Given the description of an element on the screen output the (x, y) to click on. 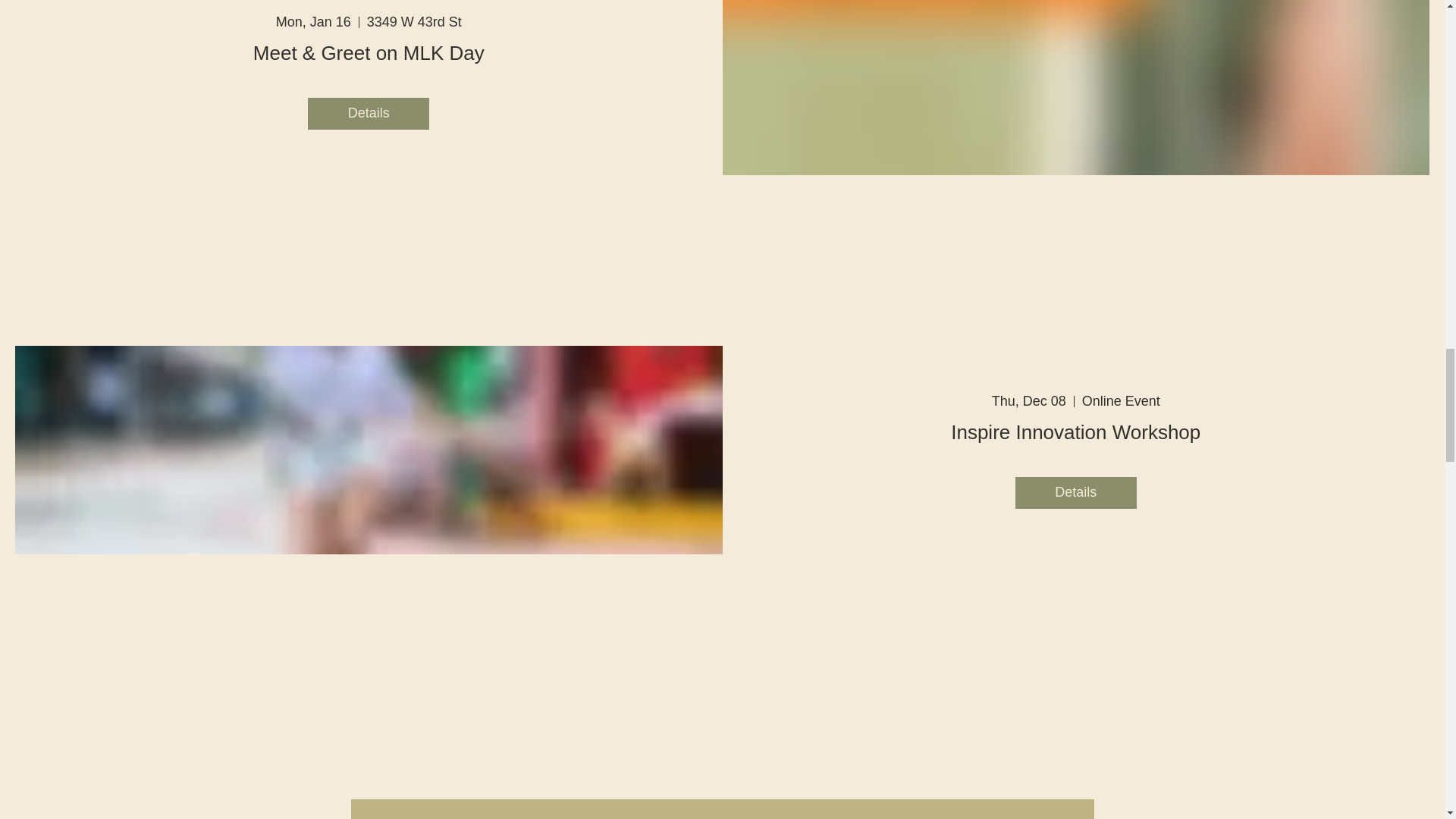
Details (1075, 492)
Inspire Innovation Workshop (1074, 432)
Details (368, 113)
